Given the description of an element on the screen output the (x, y) to click on. 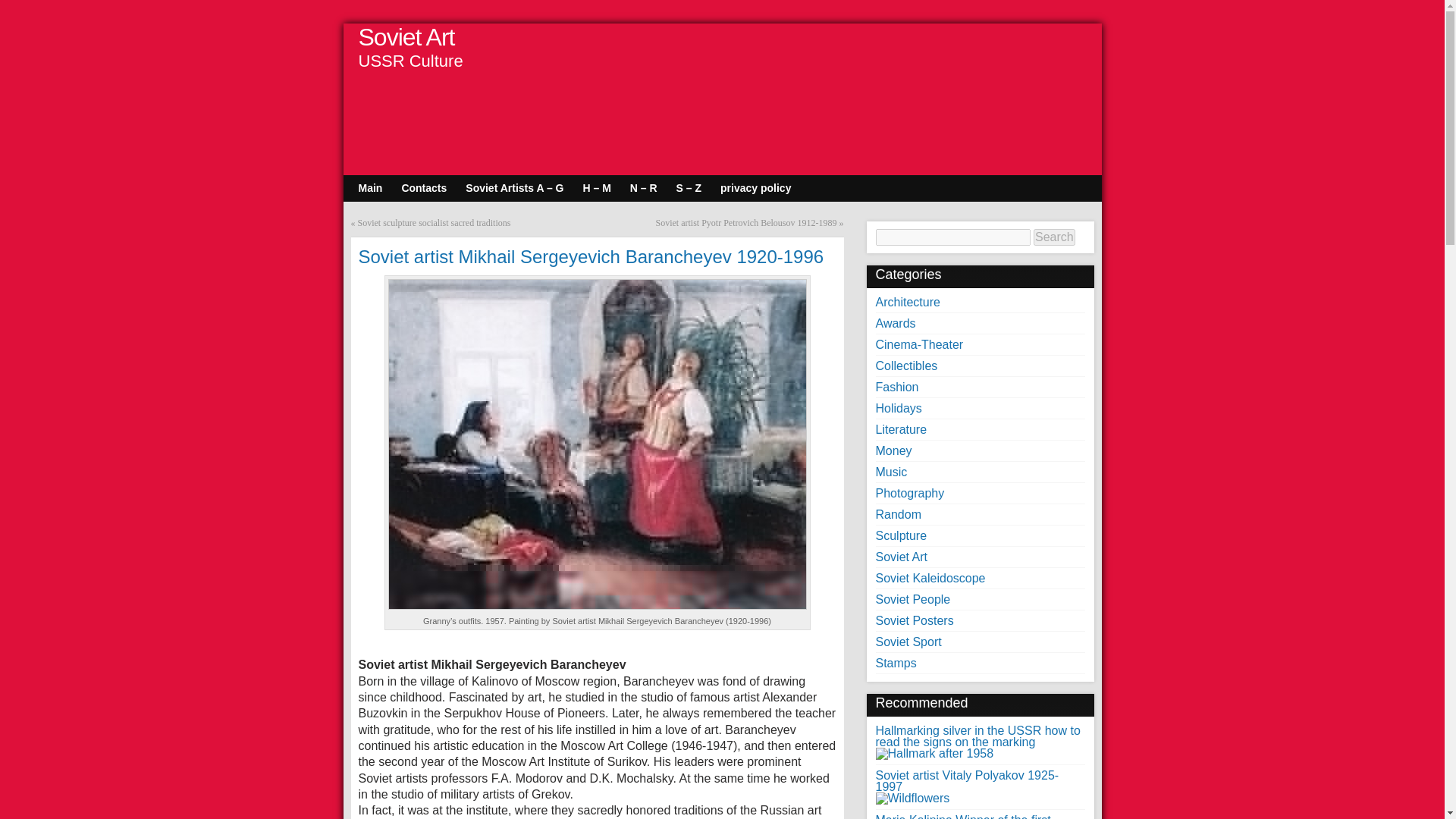
Search (1054, 237)
Soviet artist Vitaly Polyakov 1925-1997 (966, 786)
Soviet Art (406, 36)
Photography (909, 492)
Soviet Posters (914, 620)
Money (893, 450)
Soviet Art (900, 556)
Soviet Kaleidoscope (930, 577)
Soviet People (912, 599)
